Given the description of an element on the screen output the (x, y) to click on. 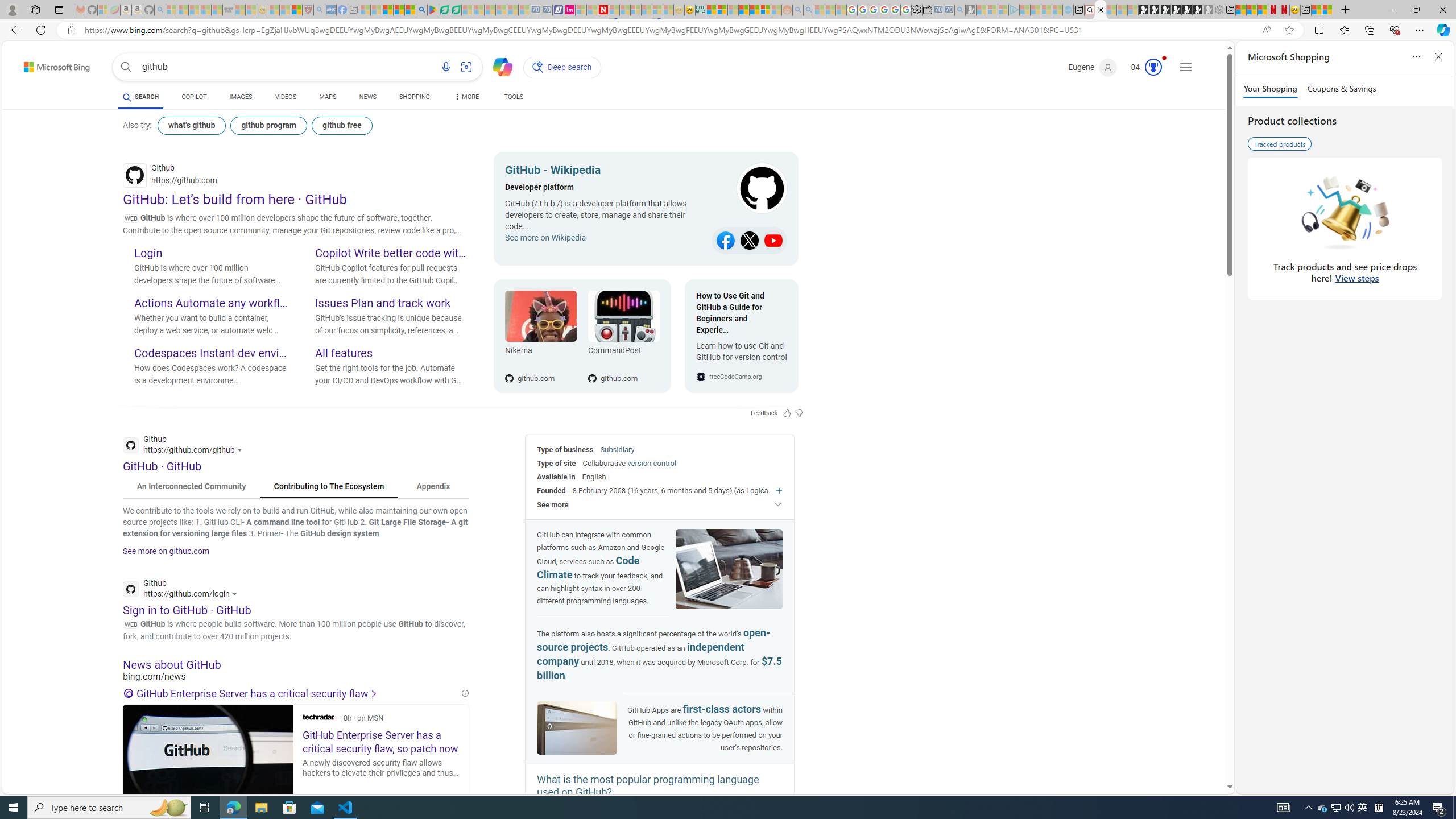
Search using voice (445, 66)
Copilot Write better code with AI (391, 254)
Chat (497, 65)
Subsidiary (616, 449)
Wildlife - MSN (1316, 9)
github program (269, 125)
GitHub - Wikipedia (604, 171)
AutomationID: mfa_root (1186, 752)
